Given the description of an element on the screen output the (x, y) to click on. 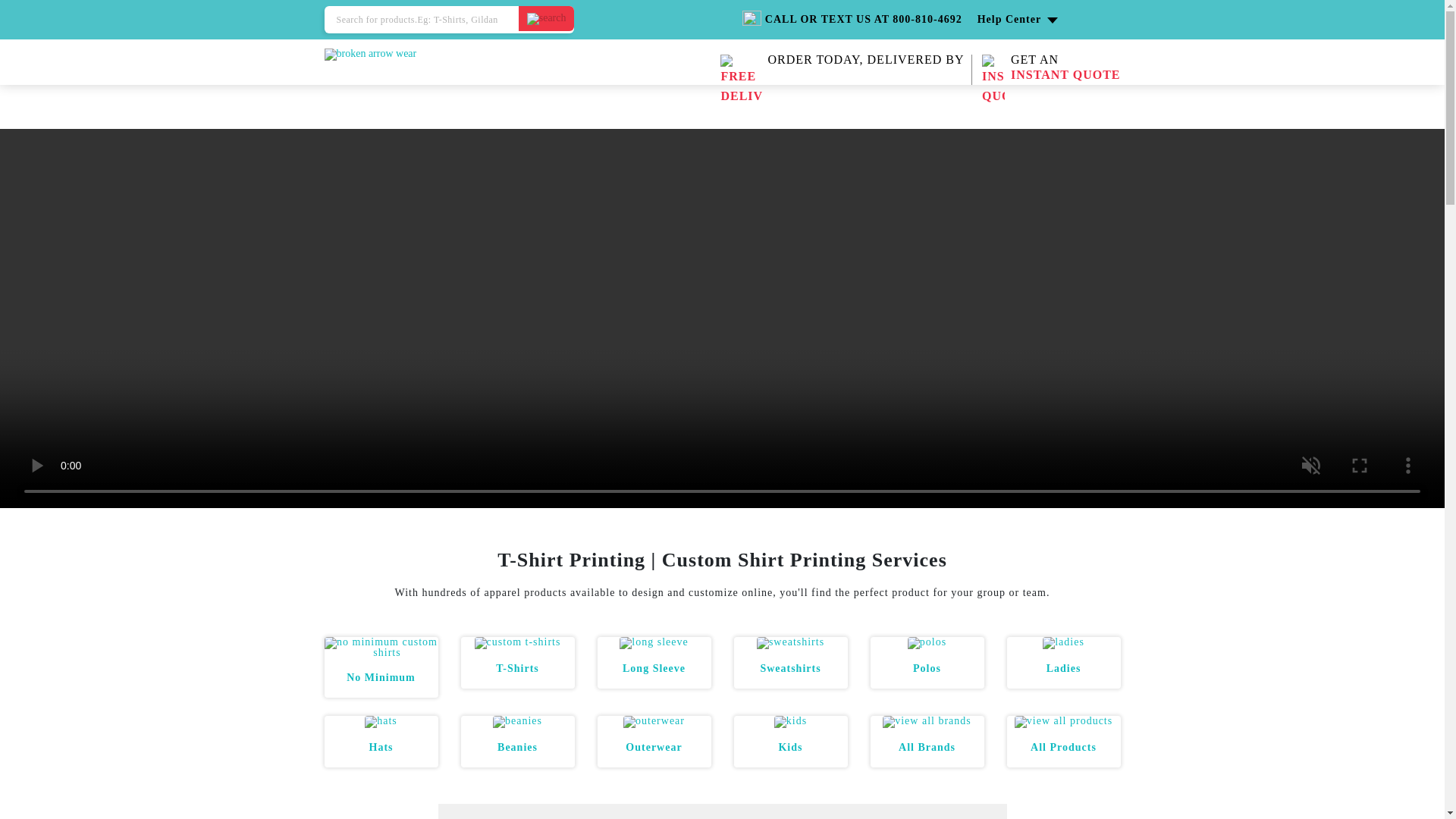
Ladies (1064, 69)
CALL OR TEXT US AT 800-810-4692 (1063, 668)
Beanies (851, 19)
T-Shirts (517, 747)
Hats (517, 668)
ORDER TODAY, DELIVERED BY (380, 747)
Help Center (865, 59)
No Minimum (1017, 19)
Long Sleeve (380, 677)
